Given the description of an element on the screen output the (x, y) to click on. 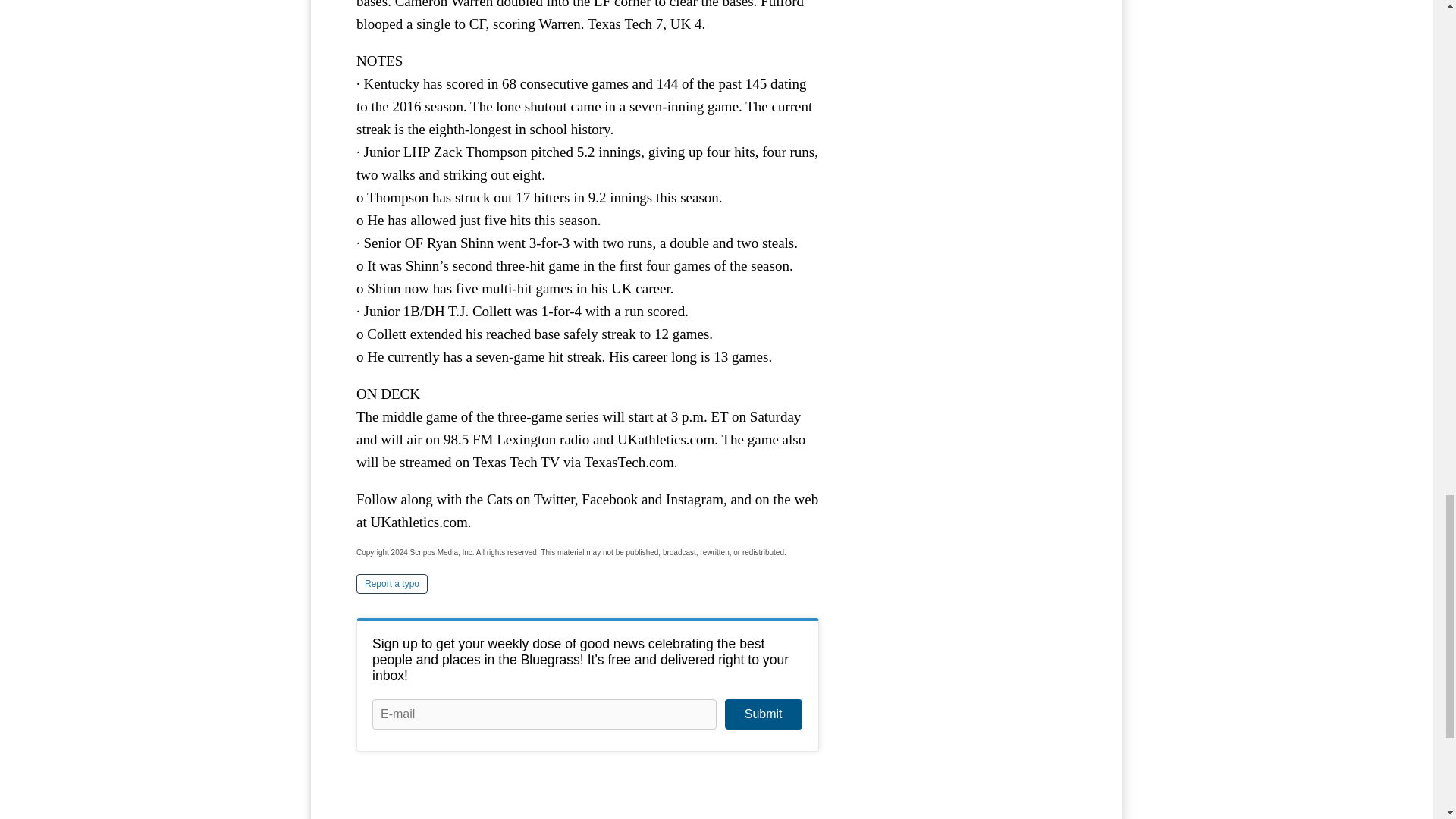
Submit (763, 714)
